Given the description of an element on the screen output the (x, y) to click on. 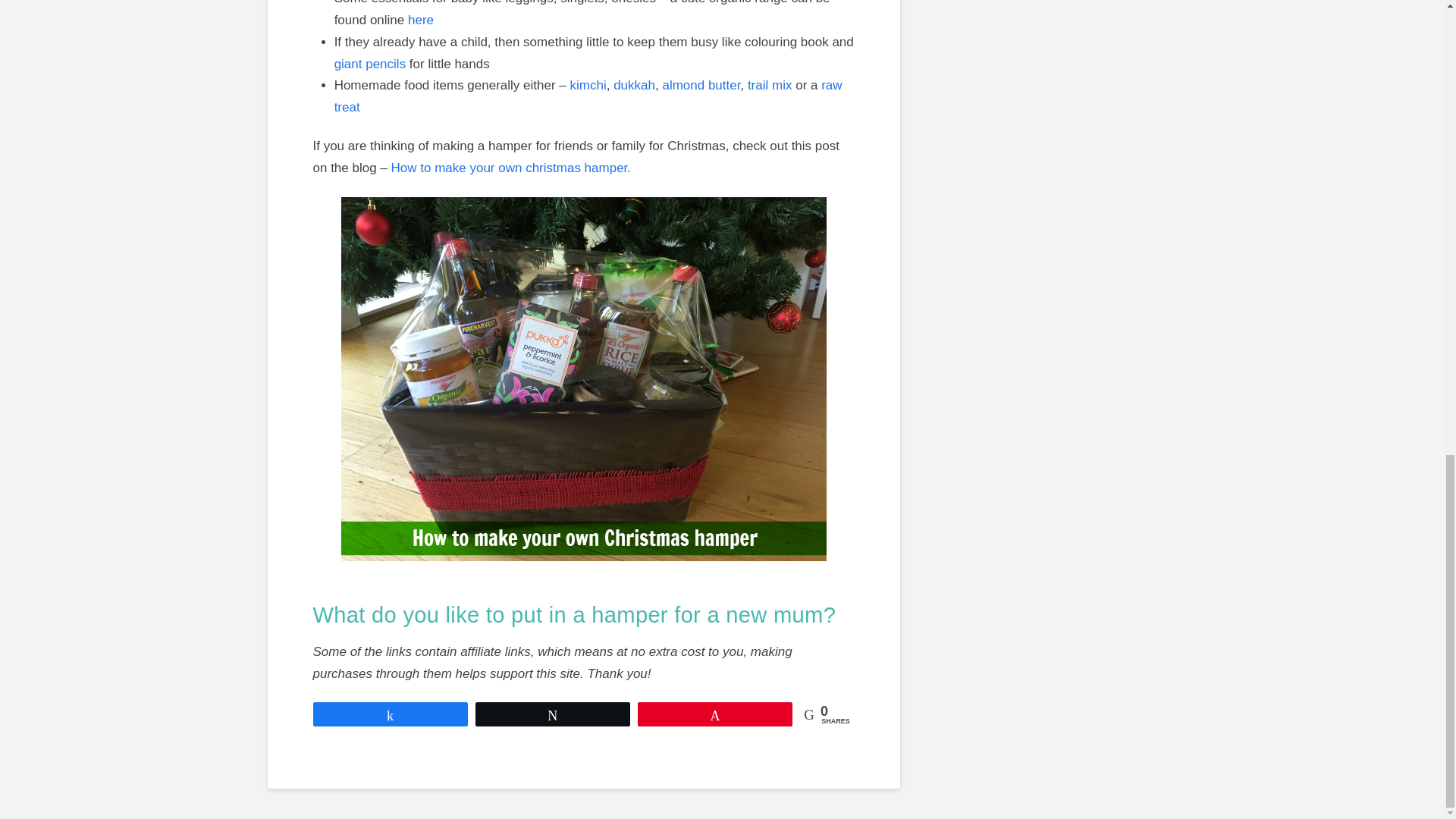
here (420, 20)
trail mix (770, 84)
giant pencils (370, 63)
dukkah (633, 84)
How to make your own christmas hamper (509, 167)
kimchi (588, 84)
almond butter (700, 84)
raw treat (588, 95)
